Given the description of an element on the screen output the (x, y) to click on. 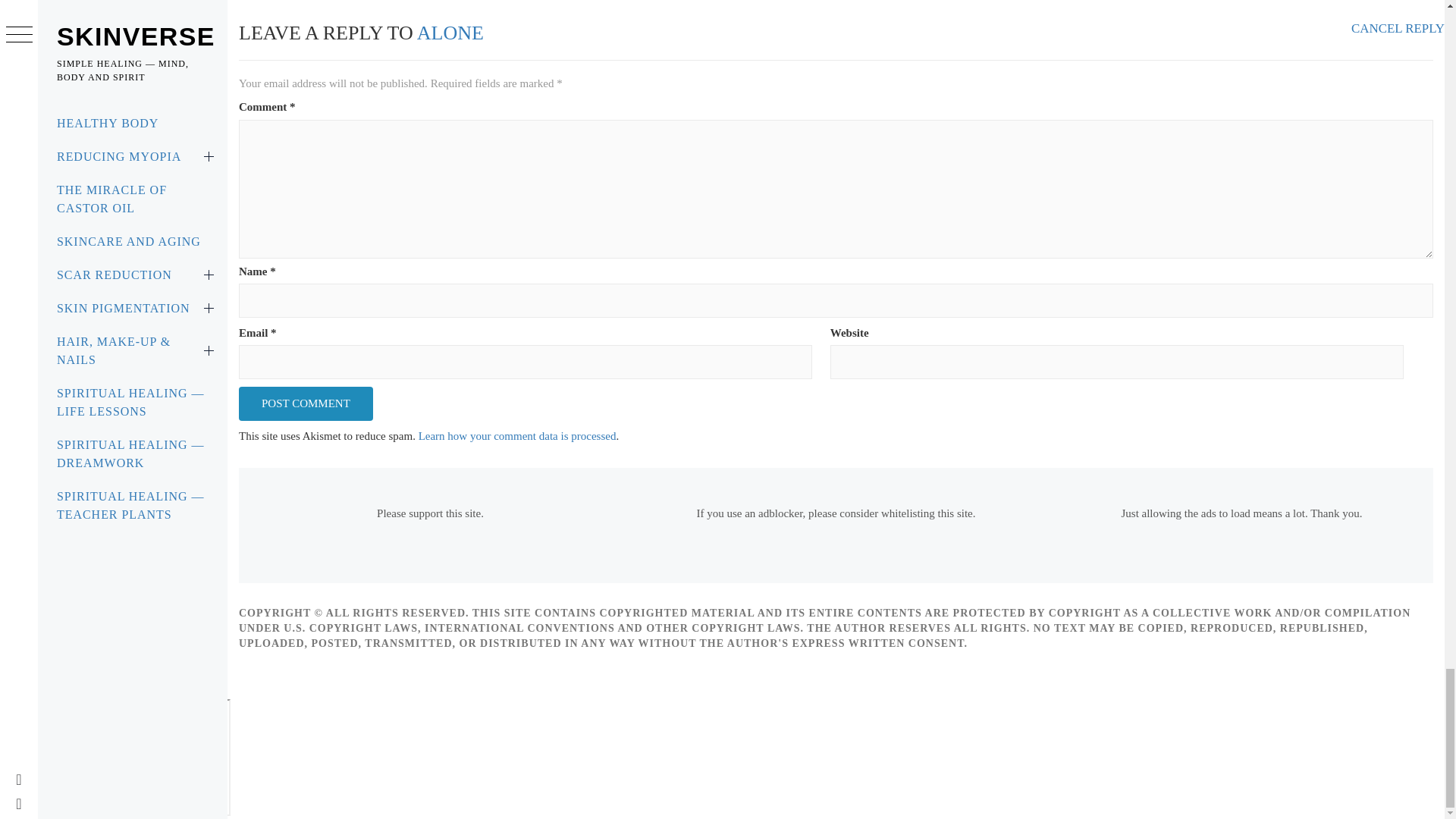
Post Comment (305, 403)
